Given the description of an element on the screen output the (x, y) to click on. 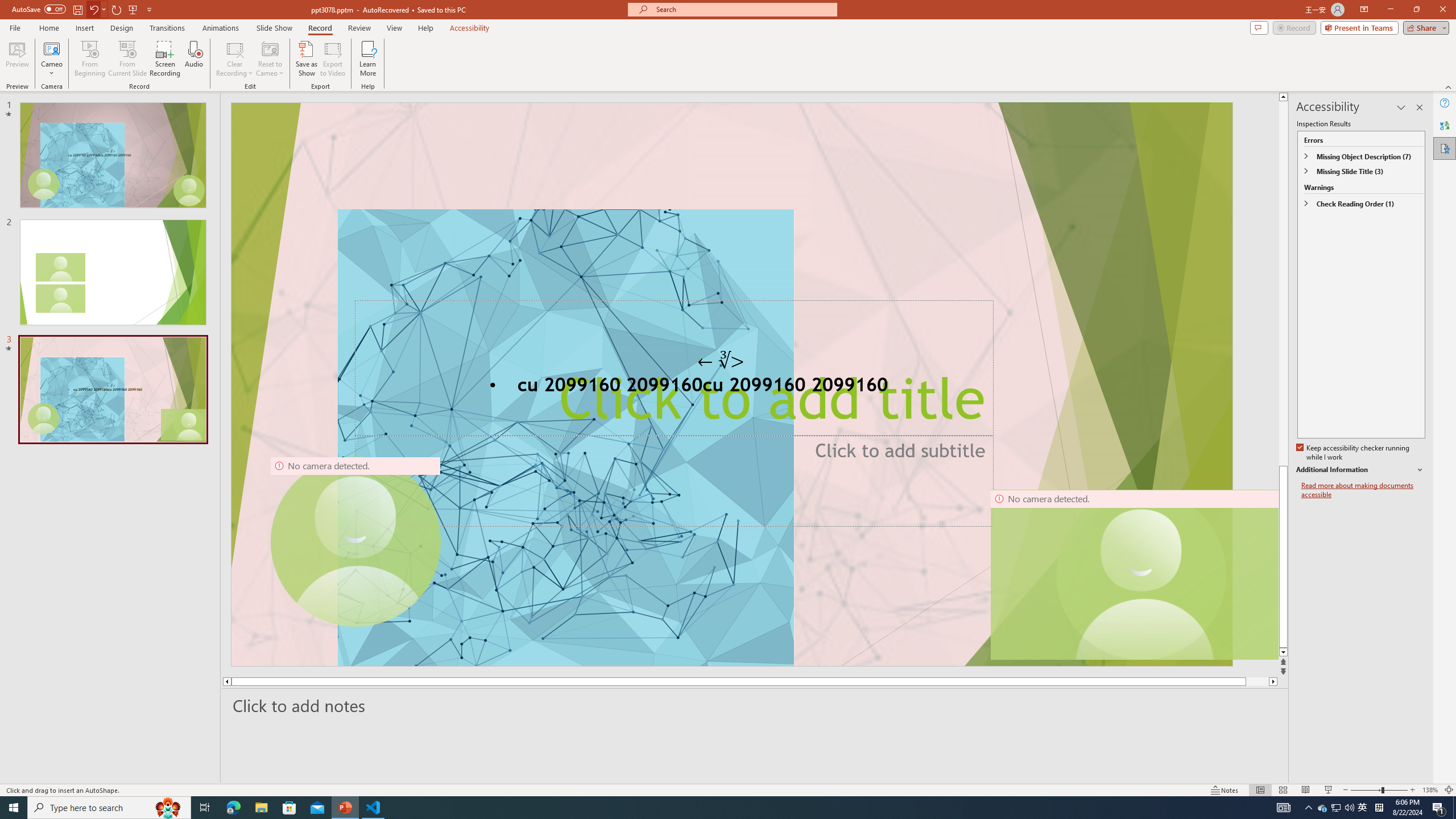
Clear Recording (234, 58)
